Given the description of an element on the screen output the (x, y) to click on. 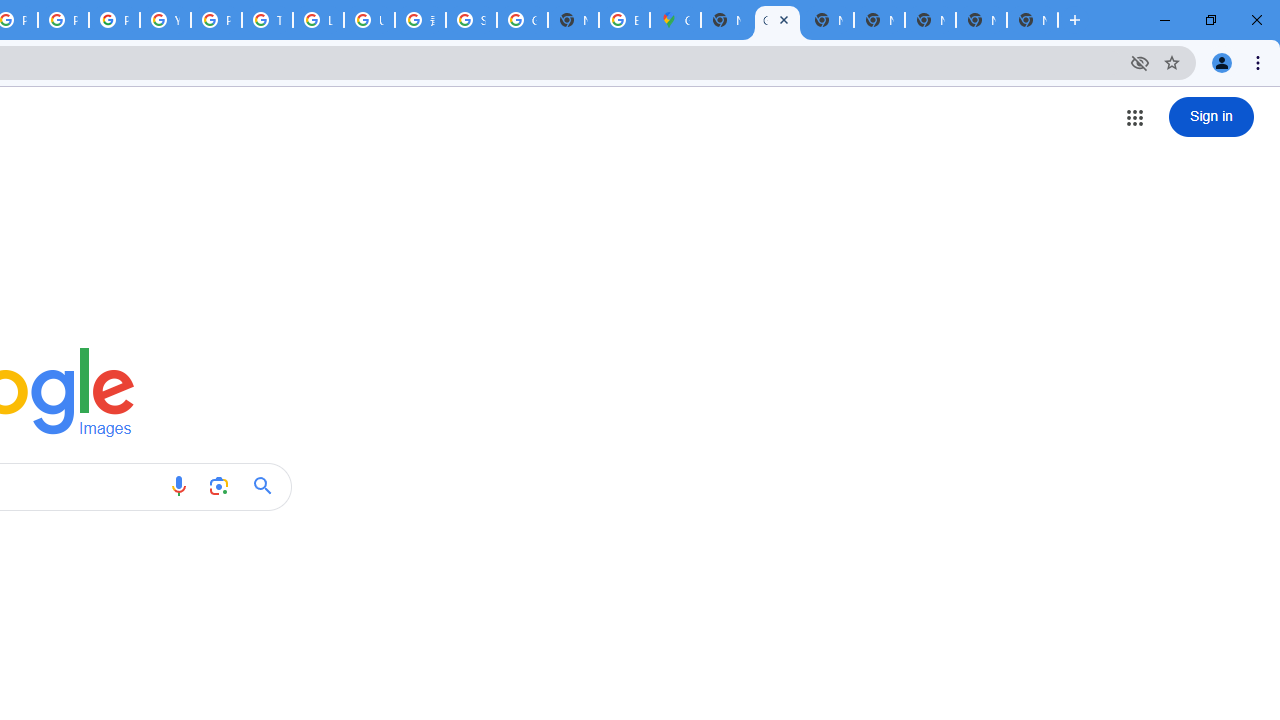
Tips & tricks for Chrome - Google Chrome Help (267, 20)
Privacy Help Center - Policies Help (63, 20)
Search by voice (178, 485)
YouTube (164, 20)
Google Images (776, 20)
Sign in - Google Accounts (470, 20)
New Tab (1032, 20)
New Tab (726, 20)
